Given the description of an element on the screen output the (x, y) to click on. 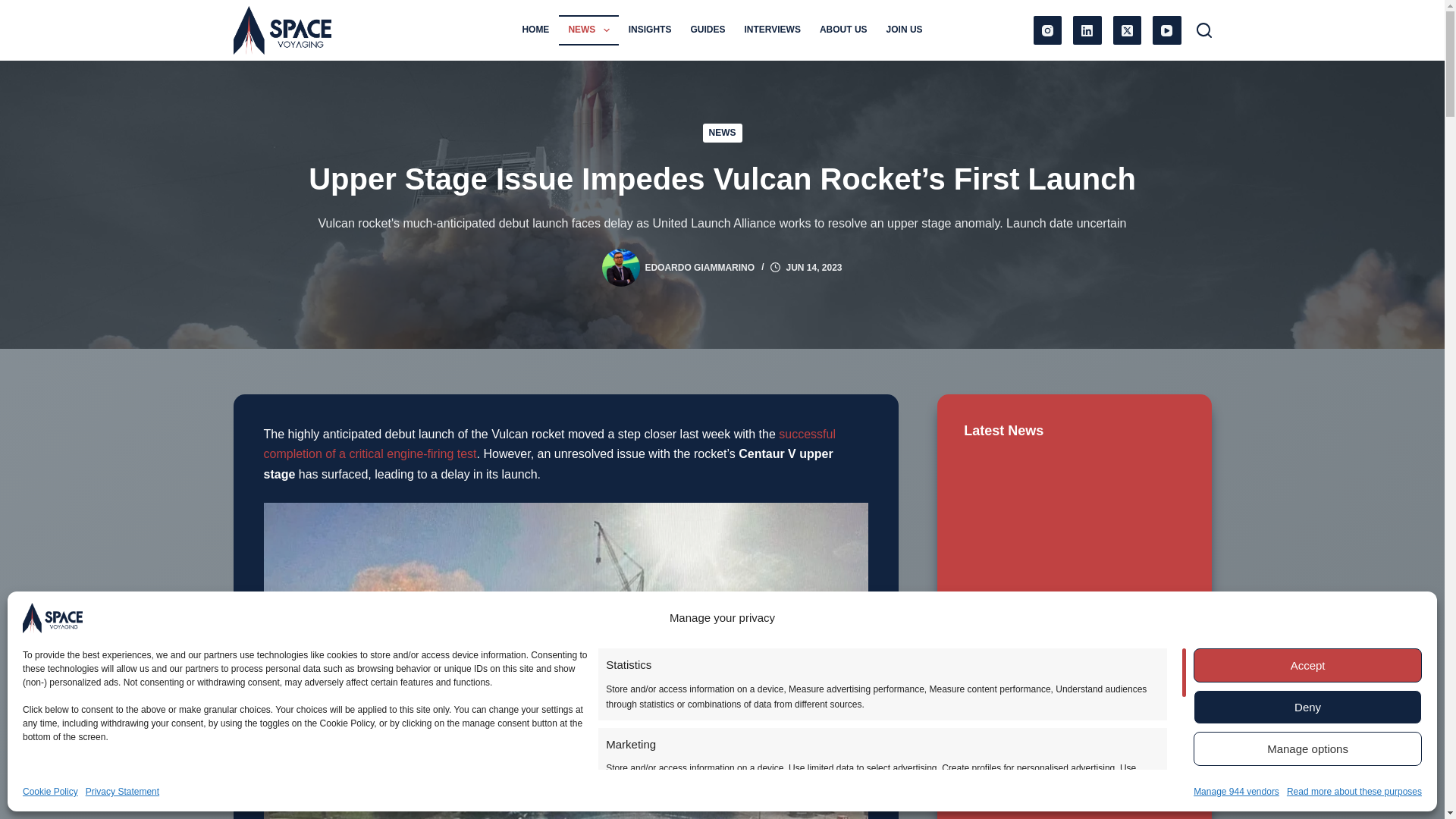
Manage options (1307, 748)
Skip to content (15, 7)
Read more about these purposes (1354, 792)
Accept (1307, 665)
Privacy Statement (121, 792)
Posts by Edoardo Giammarino (699, 267)
Manage 944 vendors (1236, 792)
Deny (1307, 706)
Cookie Policy (50, 792)
